Given the description of an element on the screen output the (x, y) to click on. 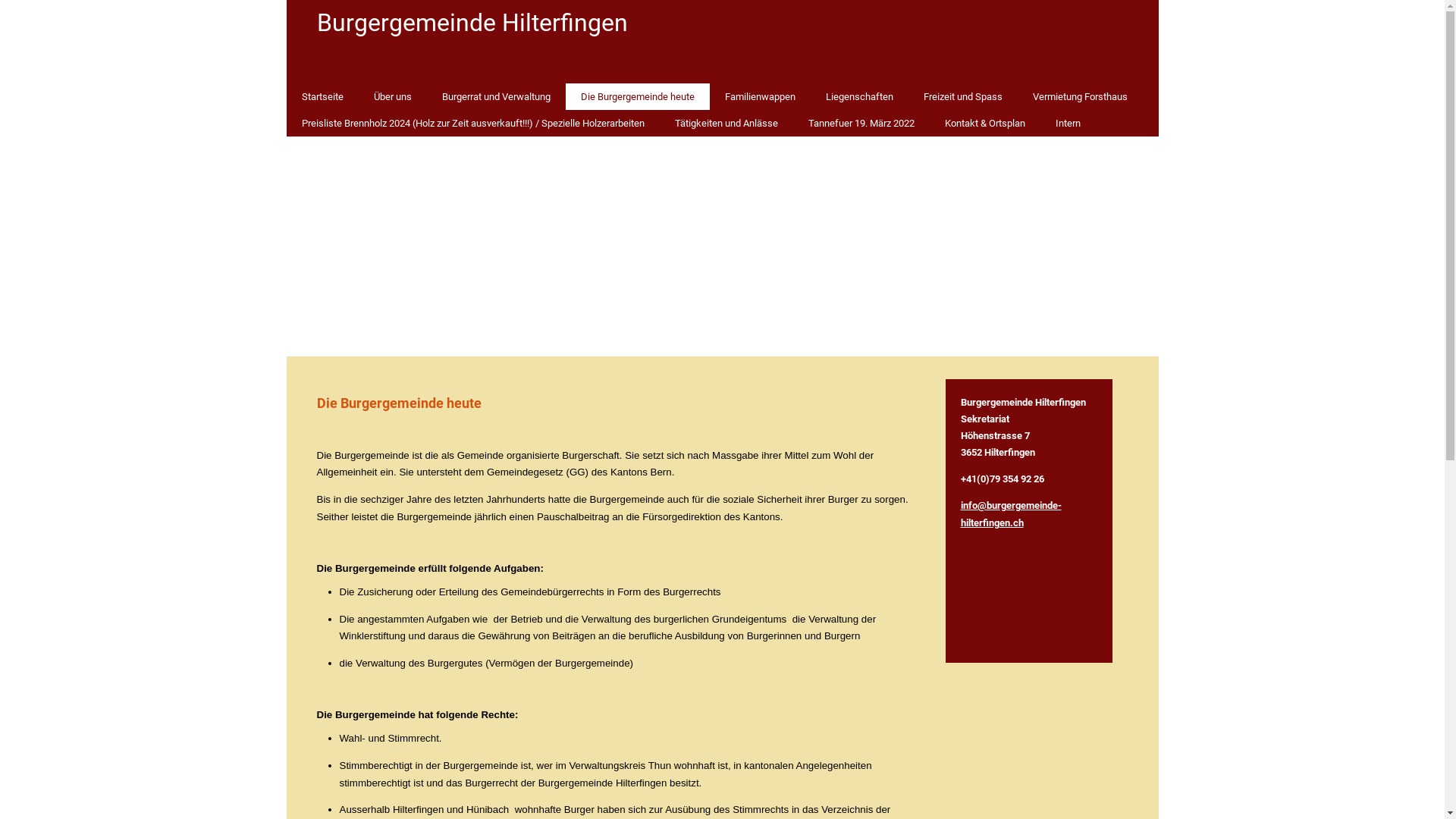
Vermietung Forsthaus Element type: text (1079, 96)
Intern Element type: text (1067, 122)
Familienwappen Element type: text (759, 96)
Kontakt & Ortsplan Element type: text (984, 122)
Freizeit und Spass Element type: text (962, 96)
Liegenschaften Element type: text (858, 96)
Die Burgergemeinde heute Element type: text (637, 96)
Burgerrat und Verwaltung Element type: text (495, 96)
Startseite Element type: text (322, 96)
info@burgergemeinde-hilterfingen.ch Element type: text (1010, 513)
